Given the description of an element on the screen output the (x, y) to click on. 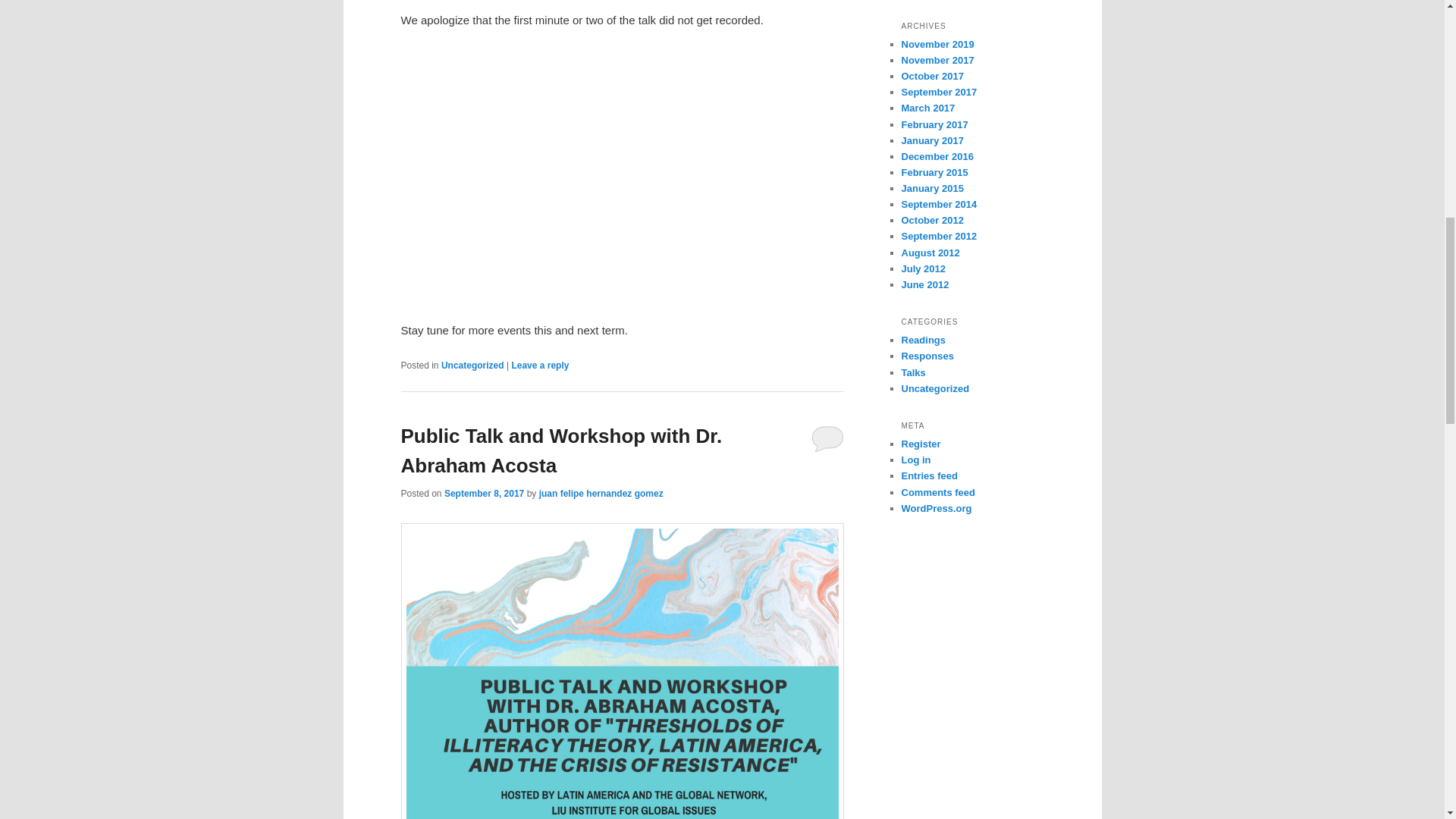
4:53 pm (484, 493)
View all posts by juan felipe hernandez gomez (600, 493)
Uncategorized (472, 365)
November 2019 (937, 43)
Public Talk and Workshop with Dr. Abraham Acosta (561, 450)
Leave a reply (540, 365)
September 8, 2017 (484, 493)
Bram Acosta, "Mapping La Bestia" (621, 173)
juan felipe hernandez gomez (600, 493)
